Given the description of an element on the screen output the (x, y) to click on. 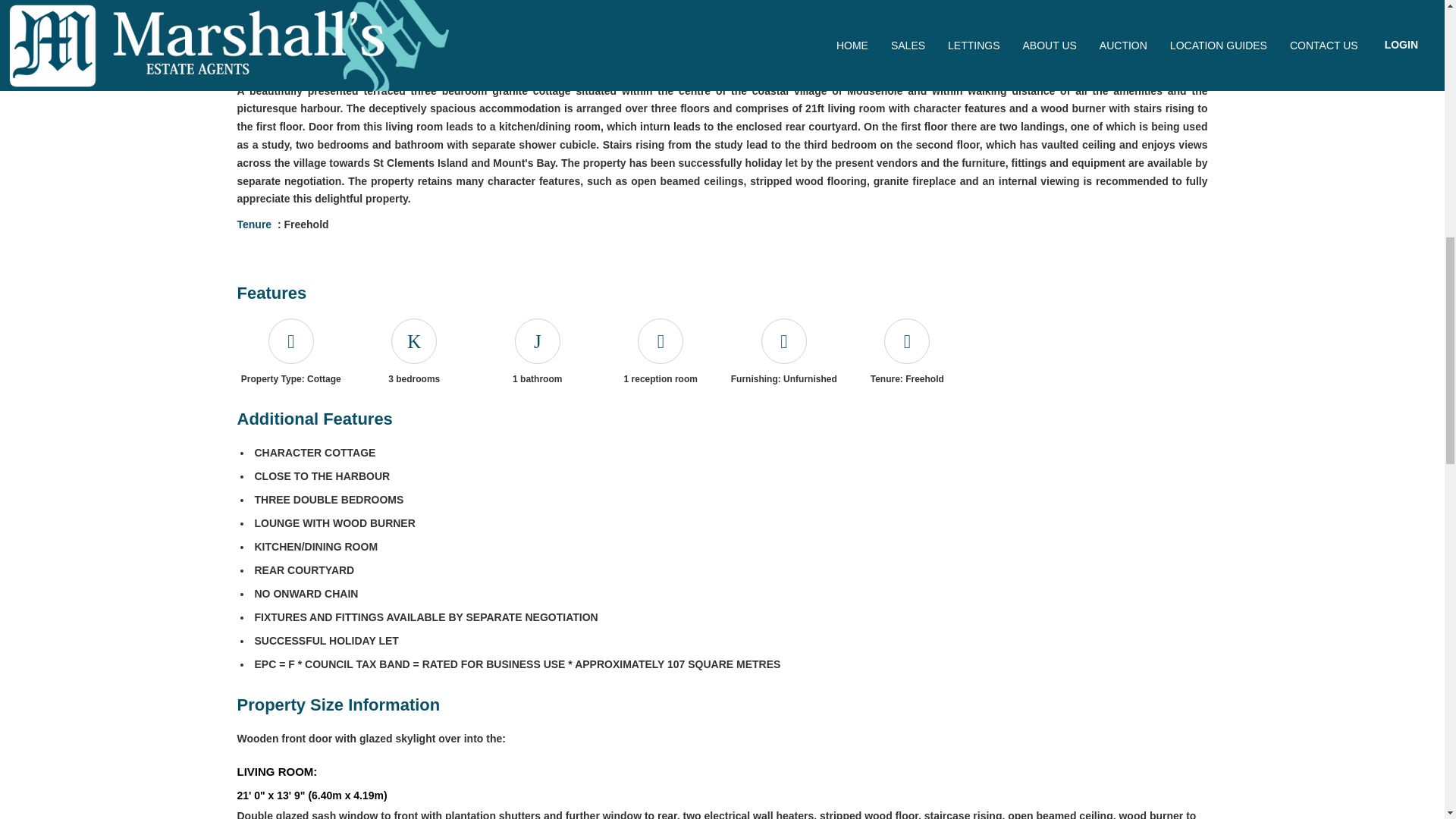
Property Type: Cottage (290, 341)
1 bathroom (537, 341)
Furnishing: Unfurnished (783, 341)
Tenure: Freehold (907, 341)
Market info (386, 9)
1 reception room (659, 341)
3 bedrooms (413, 341)
